Given the description of an element on the screen output the (x, y) to click on. 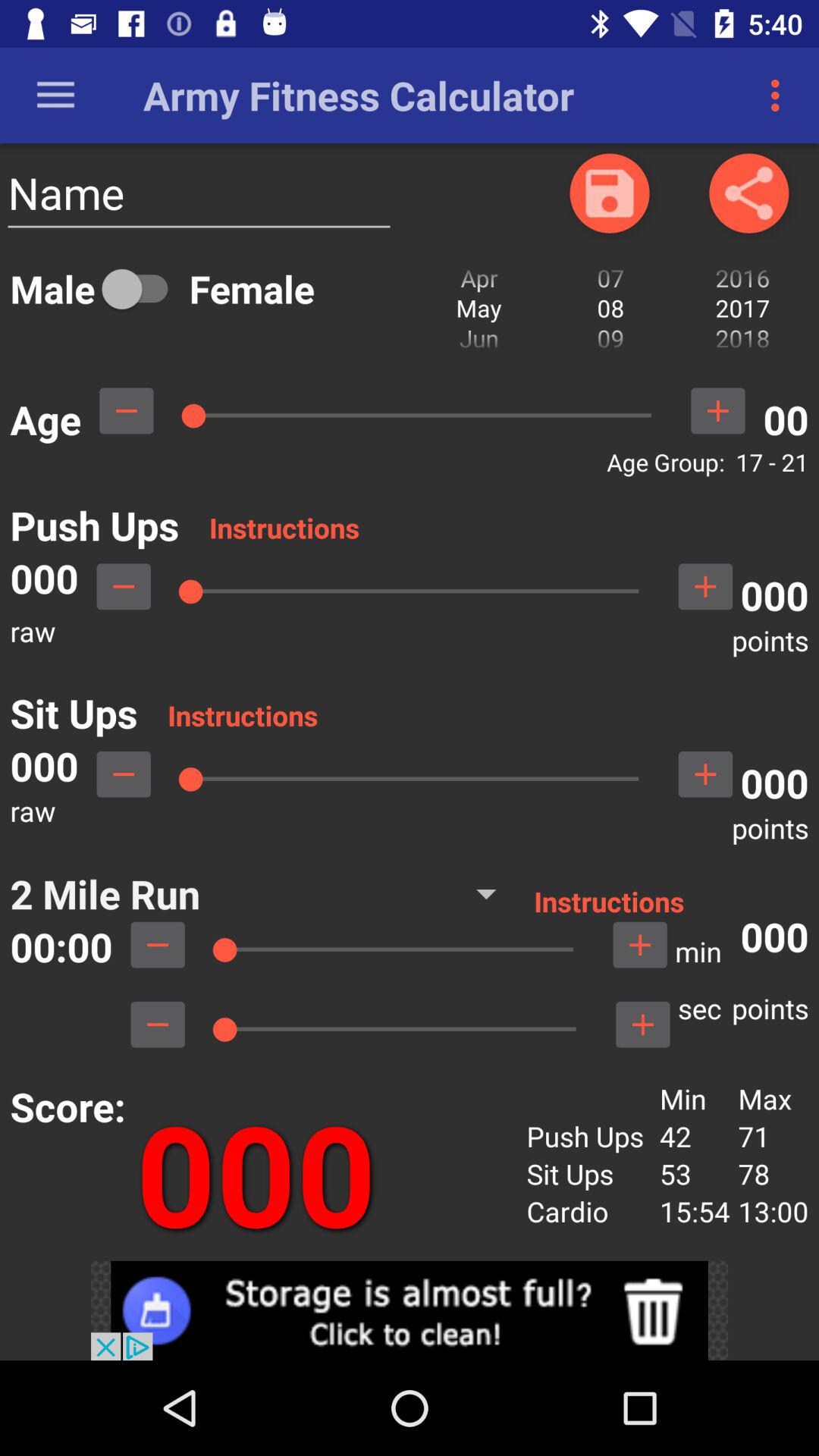
select option (141, 288)
